Given the description of an element on the screen output the (x, y) to click on. 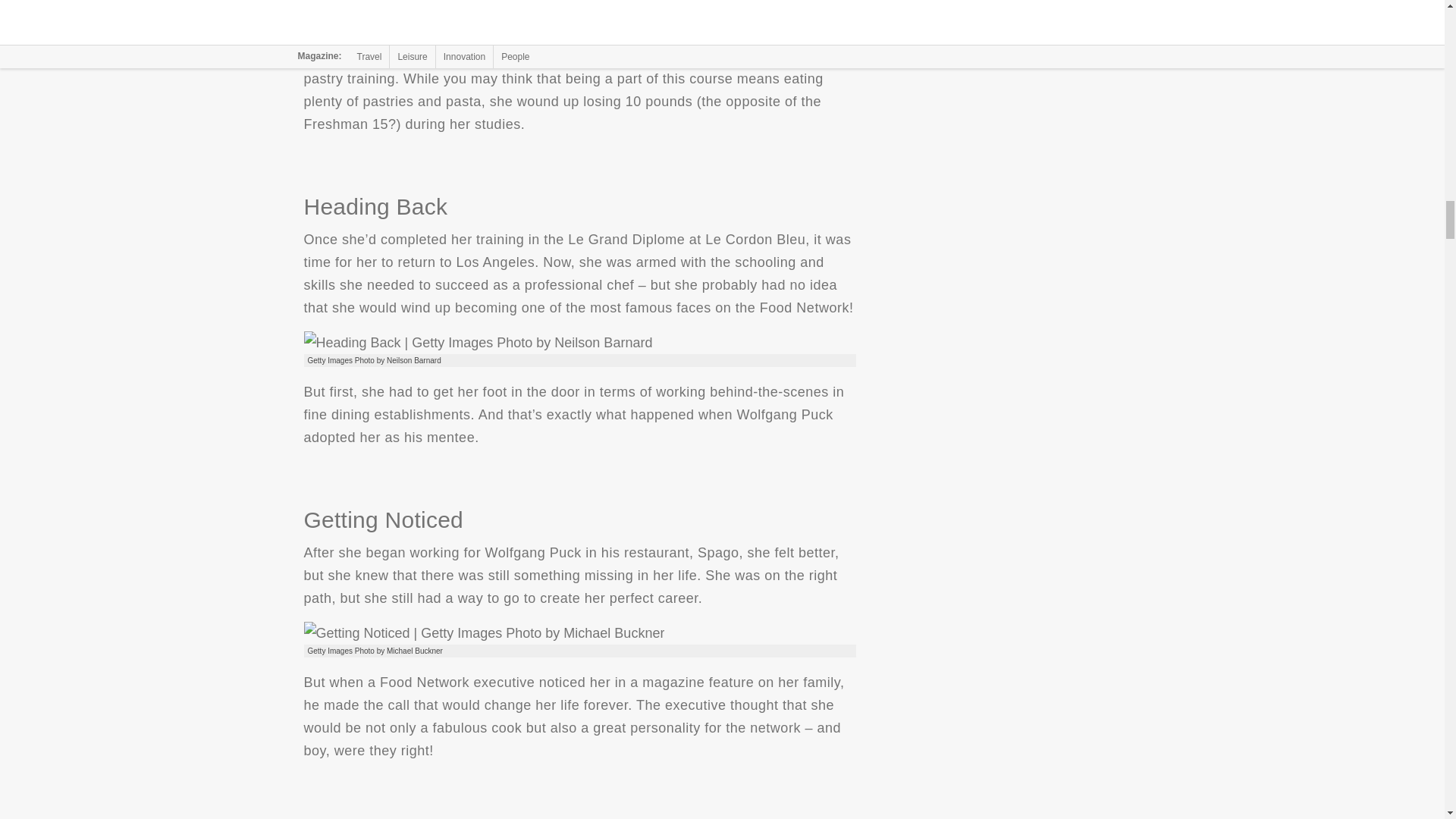
Pastries and Cuisine (552, 9)
Heading Back (477, 341)
Getting Noticed (482, 632)
